Given the description of an element on the screen output the (x, y) to click on. 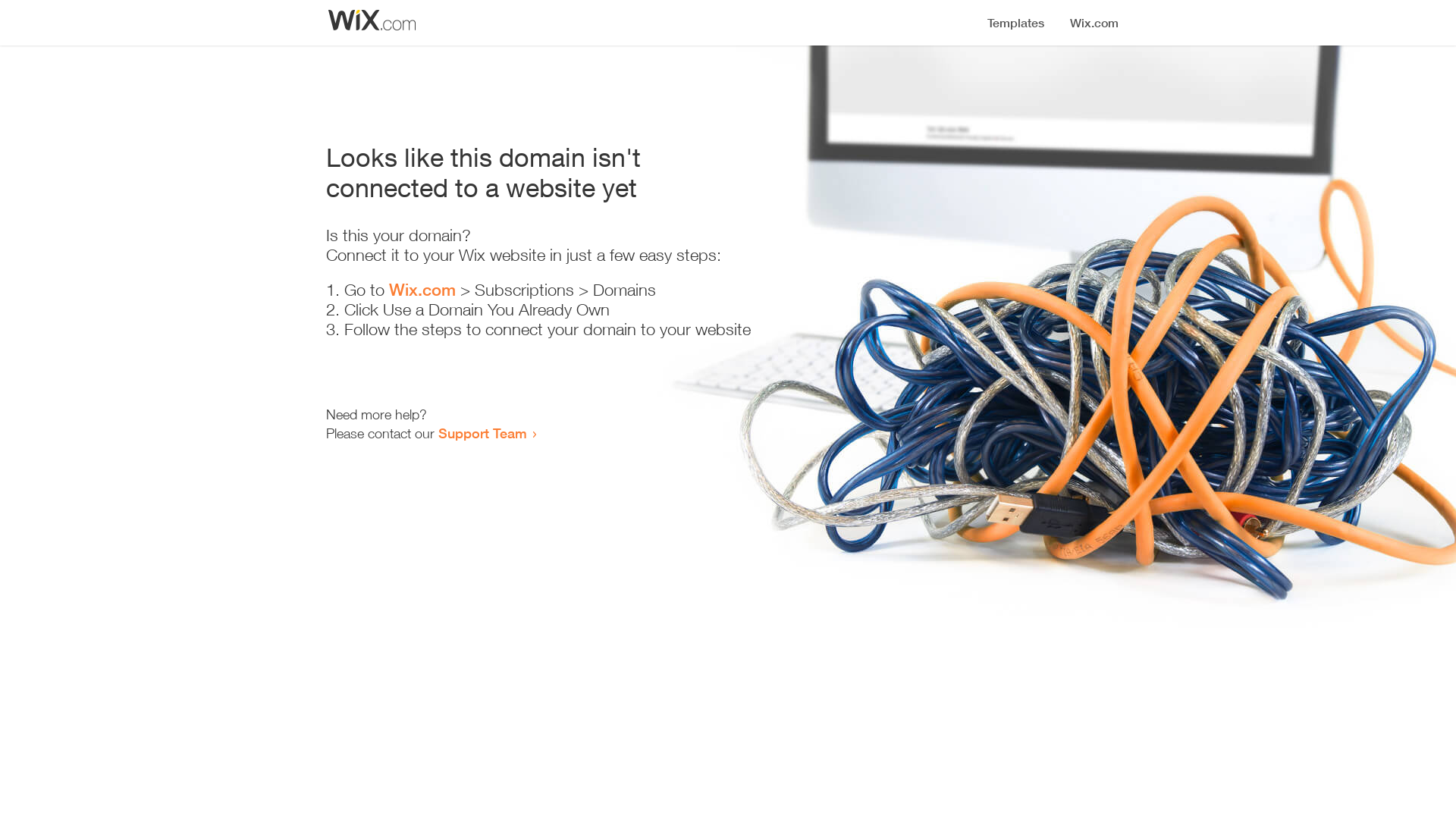
Support Team Element type: text (482, 432)
Wix.com Element type: text (422, 289)
